Given the description of an element on the screen output the (x, y) to click on. 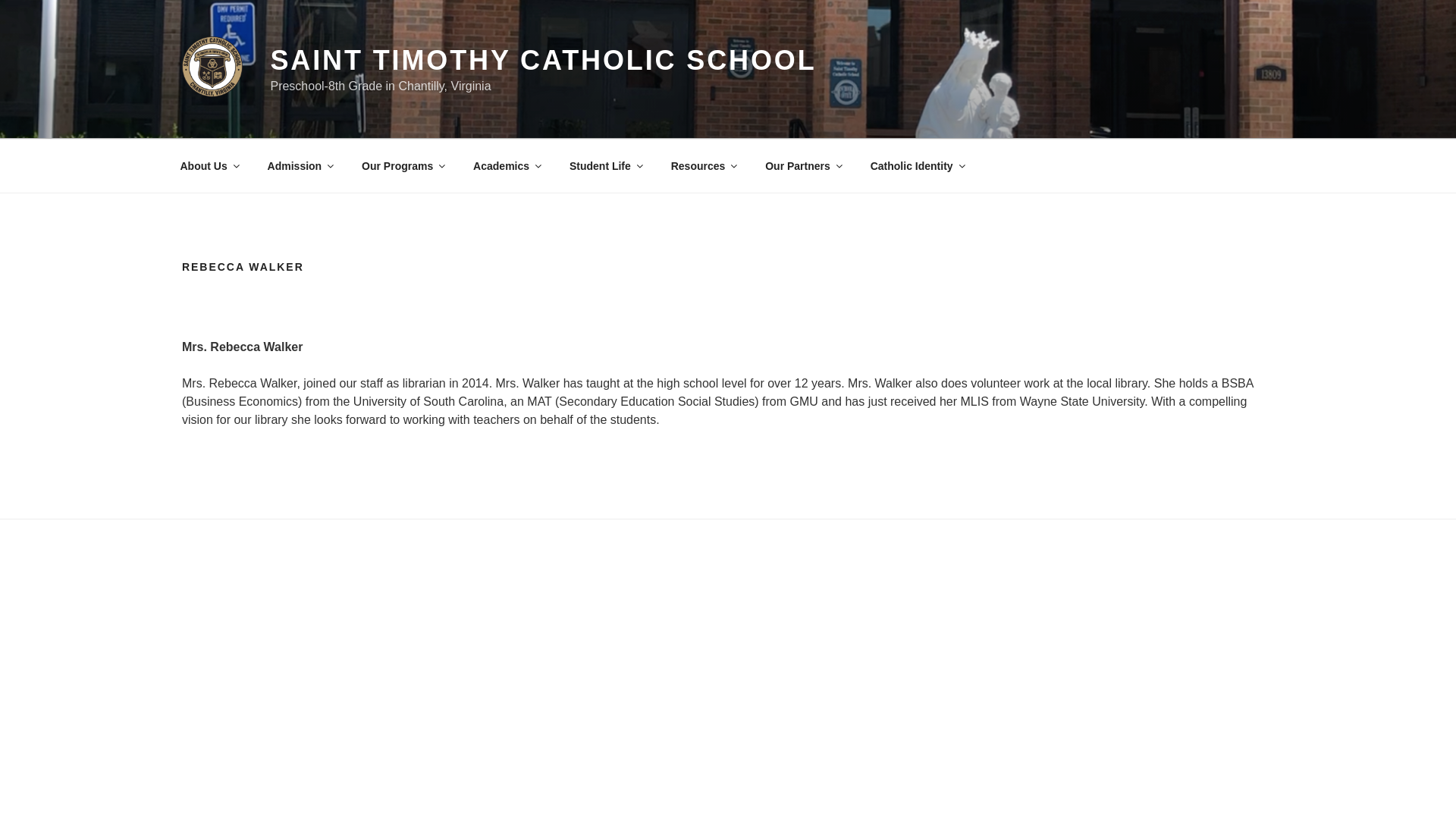
Our Programs (403, 165)
Academics (506, 165)
Admission (299, 165)
SAINT TIMOTHY CATHOLIC SCHOOL (542, 60)
Resources (703, 165)
Student Life (604, 165)
About Us (208, 165)
